Given the description of an element on the screen output the (x, y) to click on. 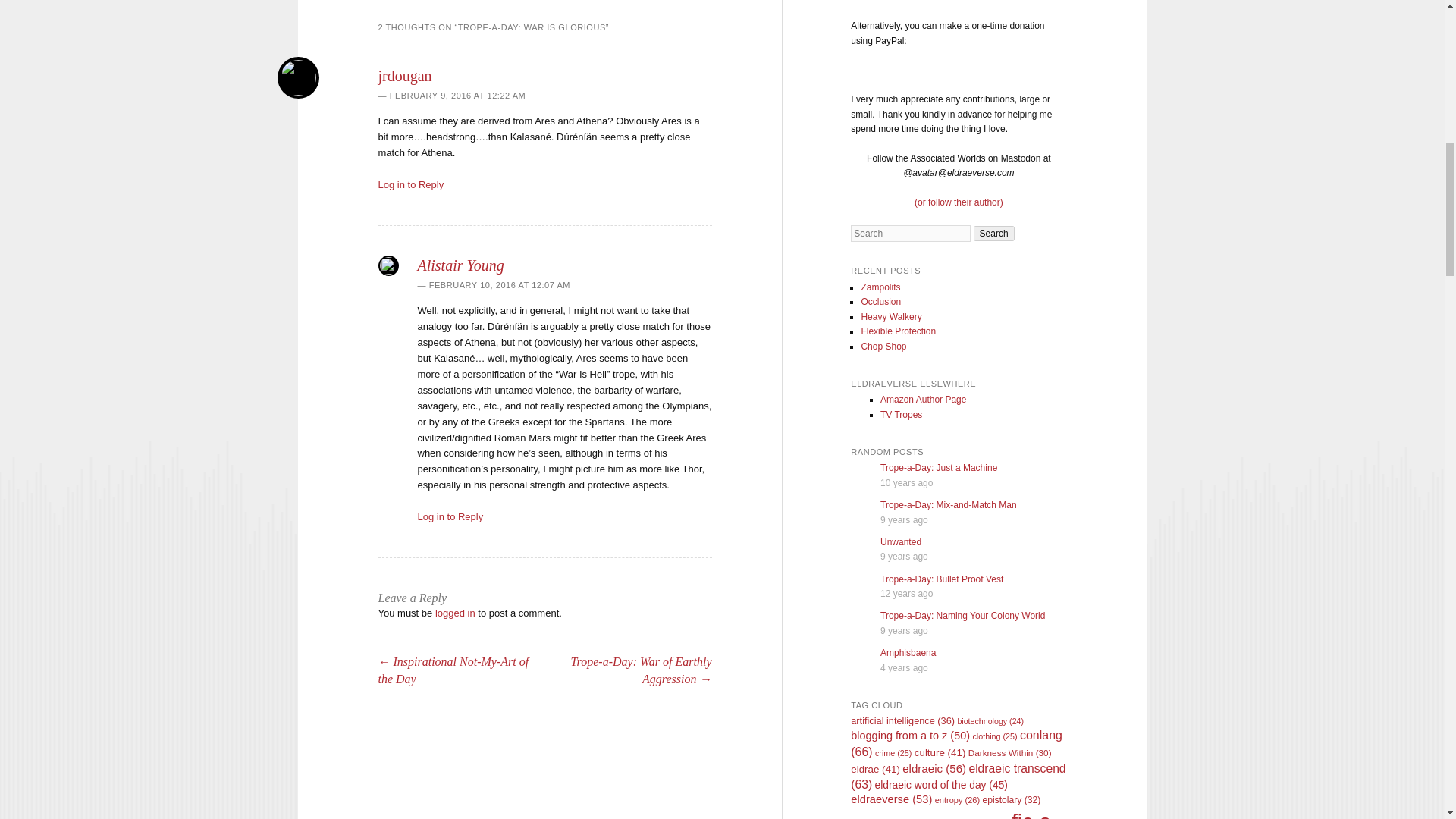
Search (994, 233)
Log in to Reply (410, 184)
Search (994, 233)
Become a Patron! (886, 1)
Log in to Reply (449, 516)
Alistair Young (459, 265)
FEBRUARY 10, 2016 AT 12:07 AM (493, 284)
jrdougan (403, 75)
FEBRUARY 9, 2016 AT 12:22 AM (451, 94)
logged in (455, 613)
